Given the description of an element on the screen output the (x, y) to click on. 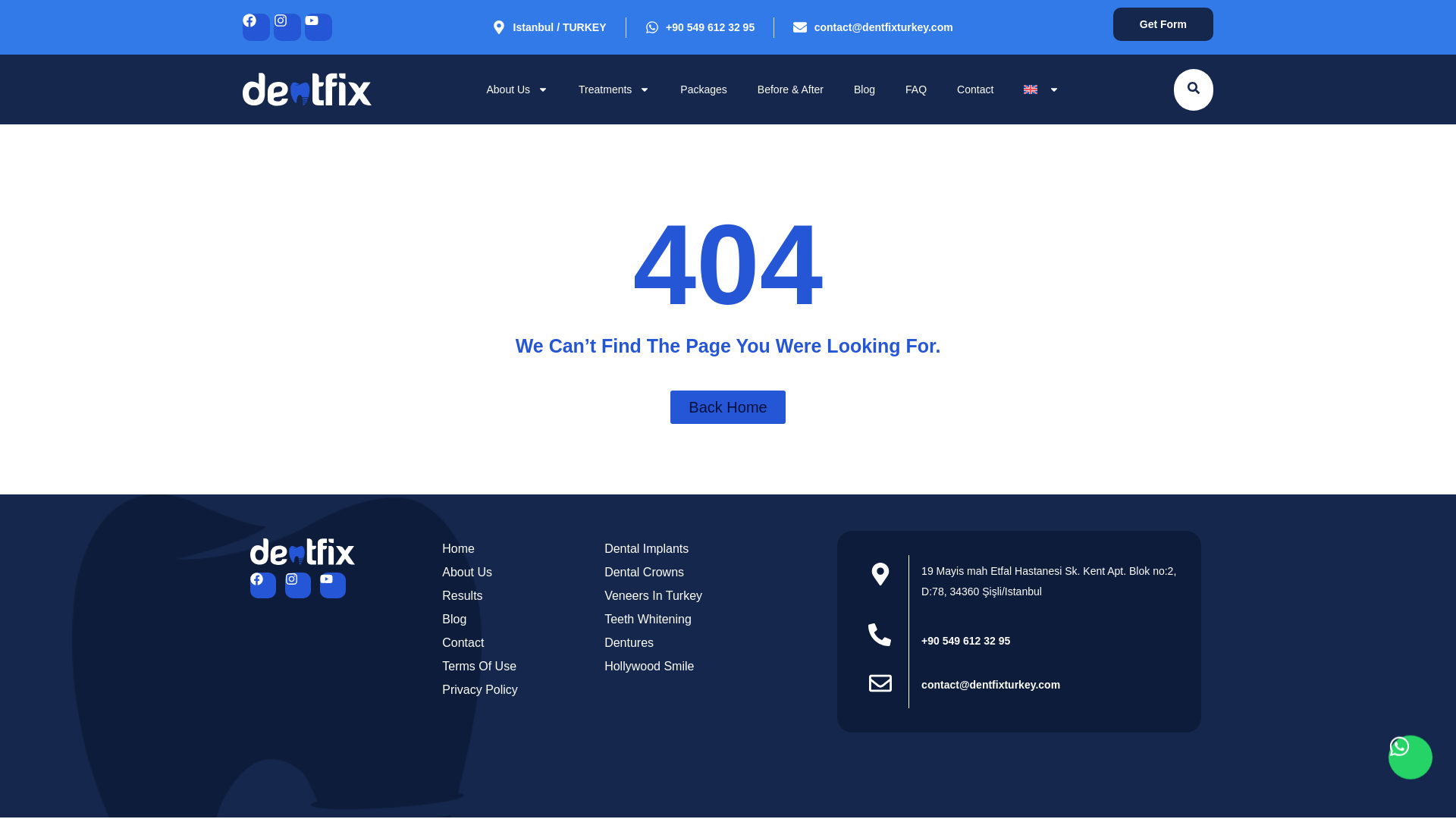
About Us (516, 89)
Get Form (1162, 23)
FAQ (915, 89)
Contact (975, 89)
Packages (703, 89)
Treatments (614, 89)
Blog (863, 89)
